Given the description of an element on the screen output the (x, y) to click on. 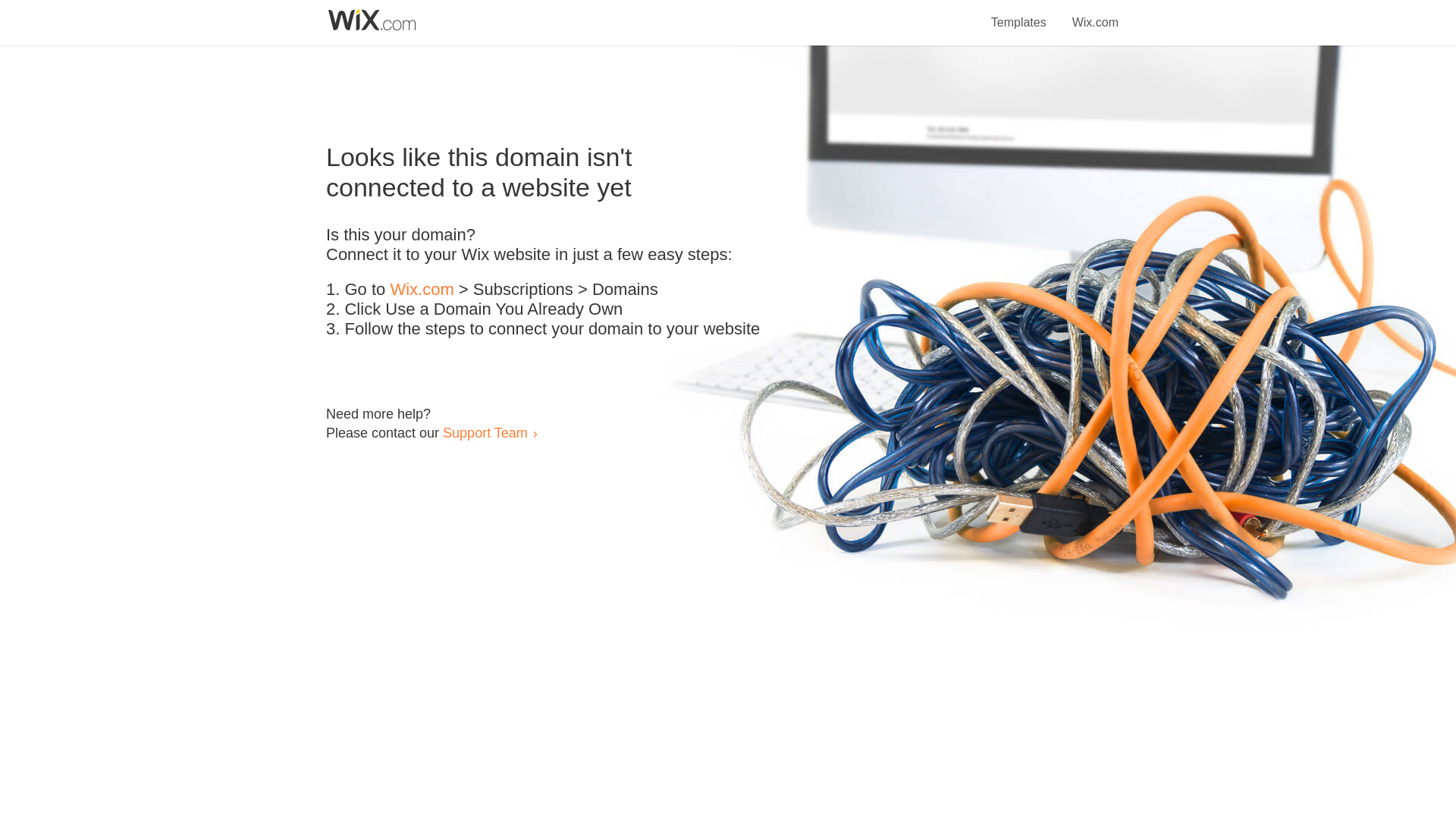
Wix.com (1095, 14)
Templates (1018, 14)
Support Team (484, 432)
Wix.com (421, 289)
